Given the description of an element on the screen output the (x, y) to click on. 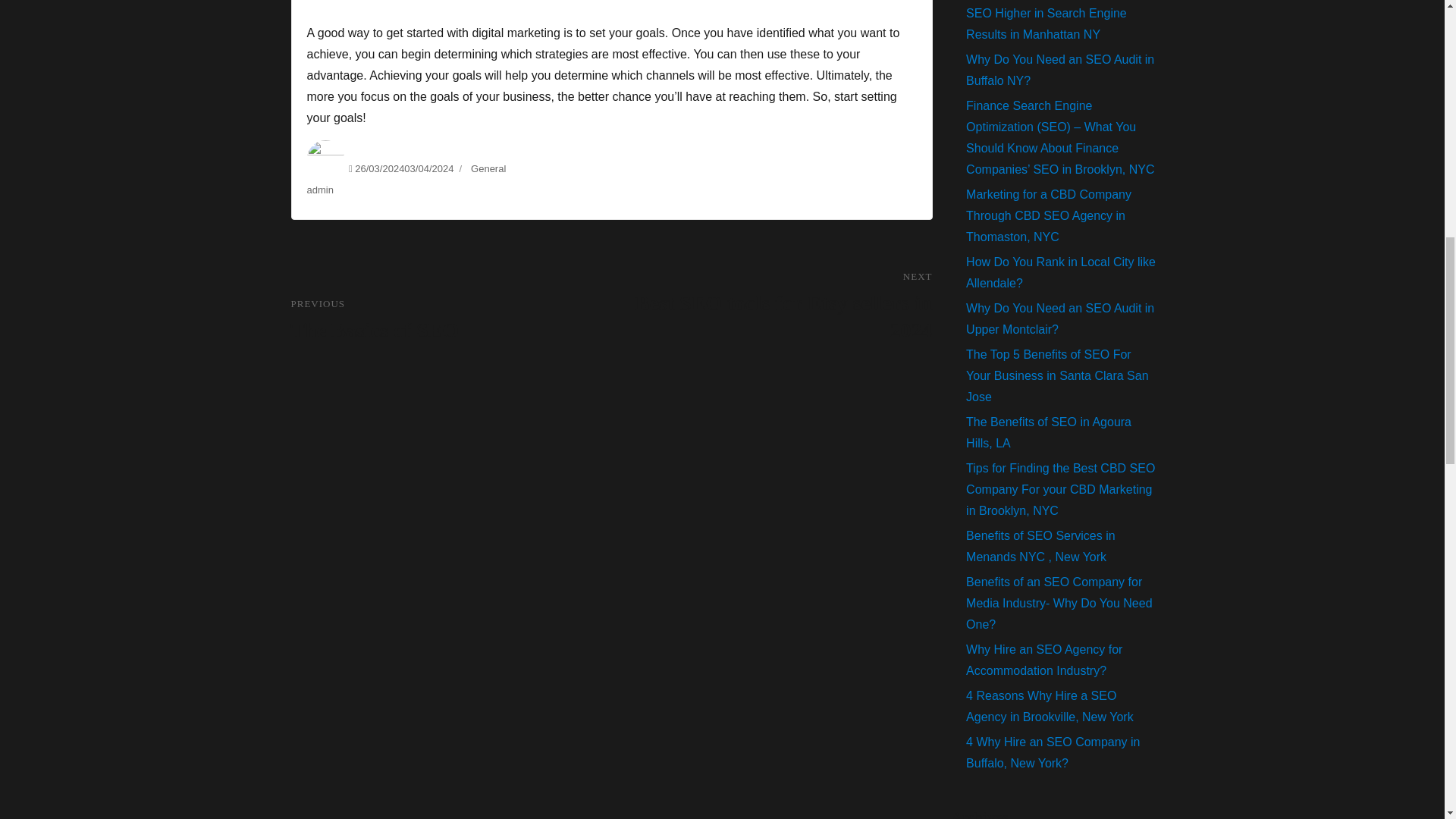
Why Do You Need an SEO Audit in Buffalo NY? (451, 319)
General (1060, 69)
Why Do You Need an SEO Audit in Upper Montclair? (487, 168)
How Do You Rank in Local City like Allendale? (1060, 318)
Benefits of SEO Services in Menands NYC , New York (1061, 272)
admin (1040, 546)
